Given the description of an element on the screen output the (x, y) to click on. 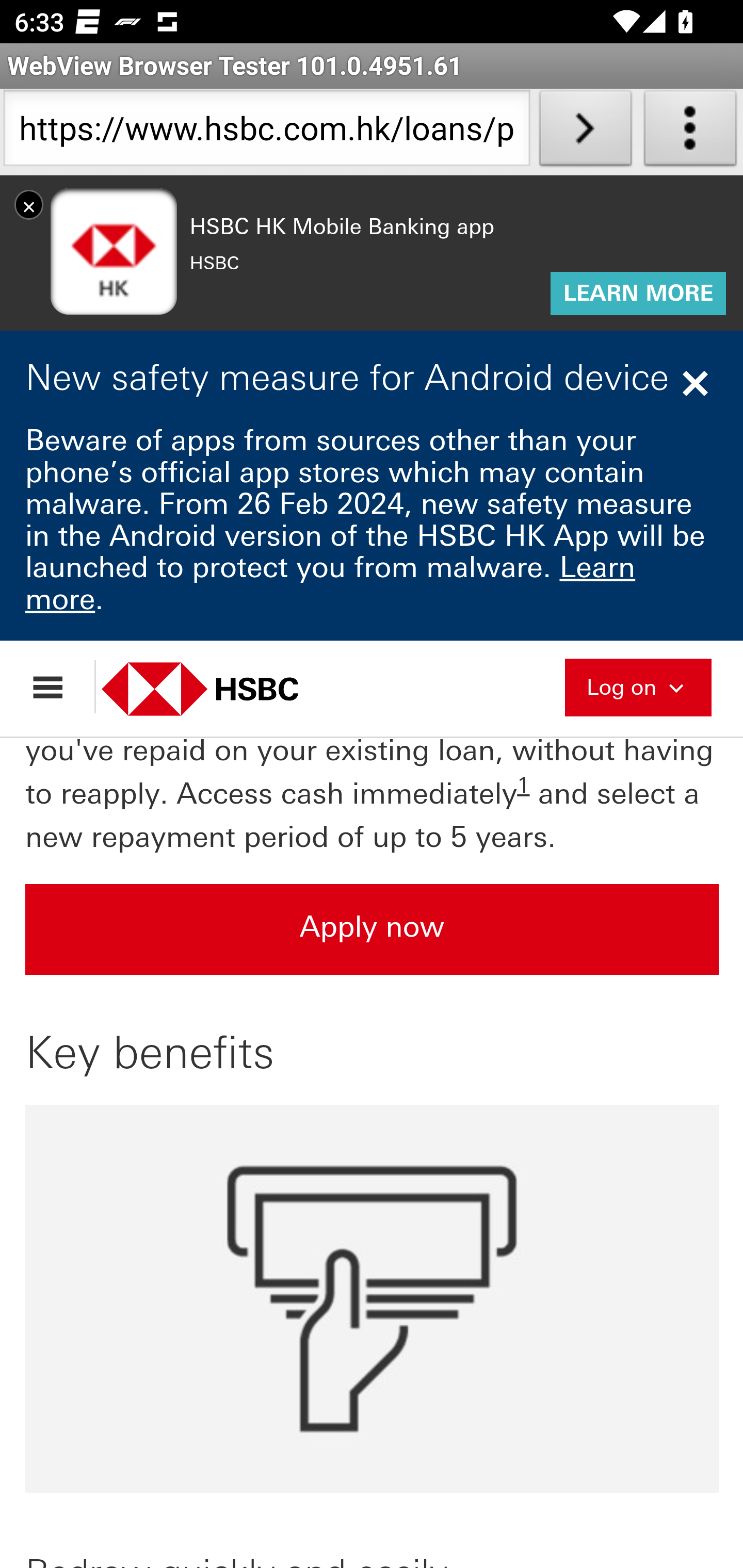
Load URL (585, 132)
About WebView (690, 132)
X (29, 205)
LEARN MORE (638, 295)
Close (697, 384)
Learn more (331, 584)
Log on Collapsed (638, 686)
Open menu (57, 688)
HSBC Hong Kong Bank (221, 690)
Apply now (372, 930)
